Given the description of an element on the screen output the (x, y) to click on. 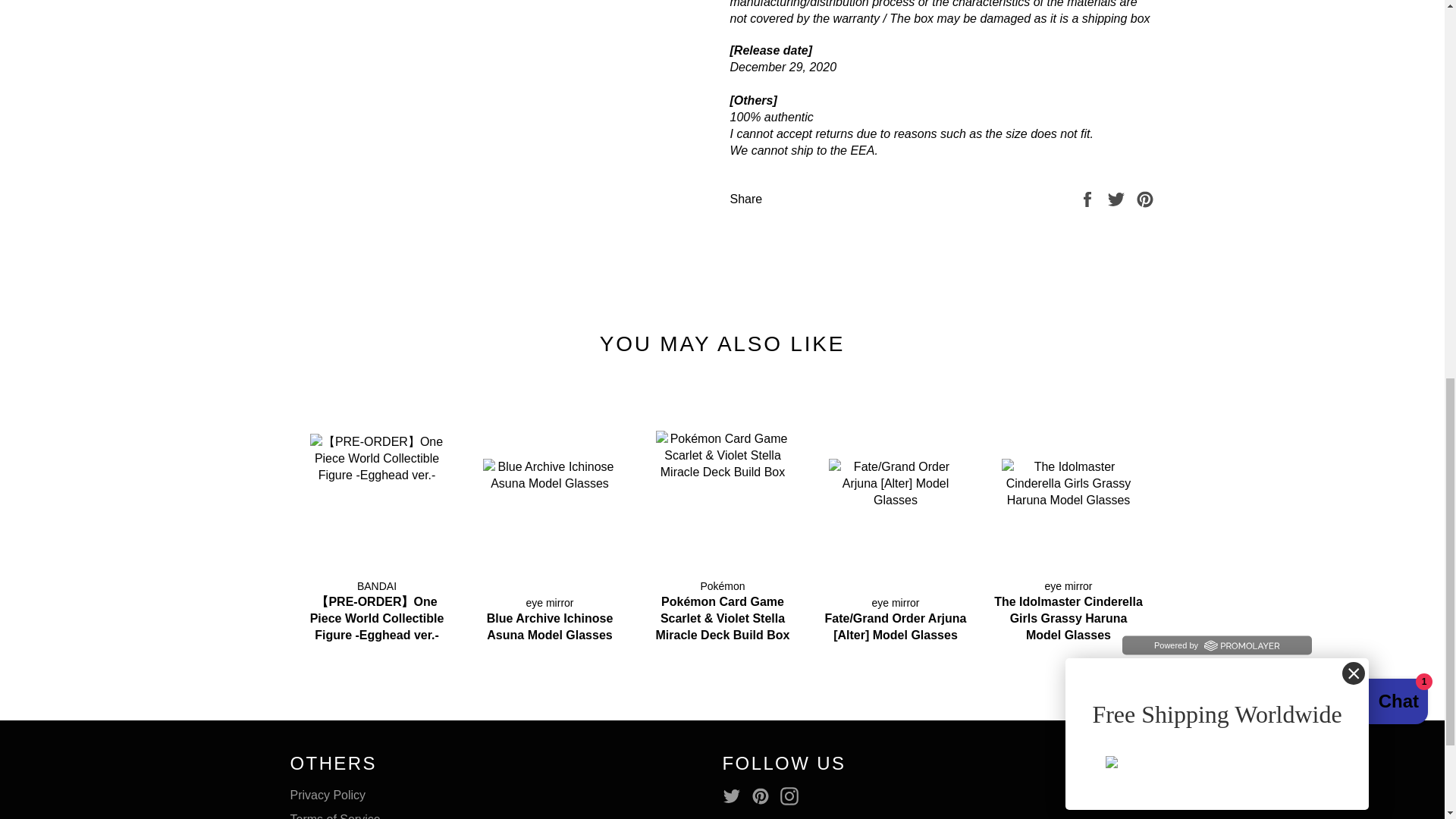
wagnerian17store on Pinterest (764, 796)
Share on Facebook (1088, 198)
Pin on Pinterest (1144, 198)
Pin on Pinterest (1144, 198)
Share on Facebook (1088, 198)
wagnerian17store on Instagram (793, 796)
wagnerian17store on Twitter (735, 796)
Tweet on Twitter (1117, 198)
Tweet on Twitter (1117, 198)
